Given the description of an element on the screen output the (x, y) to click on. 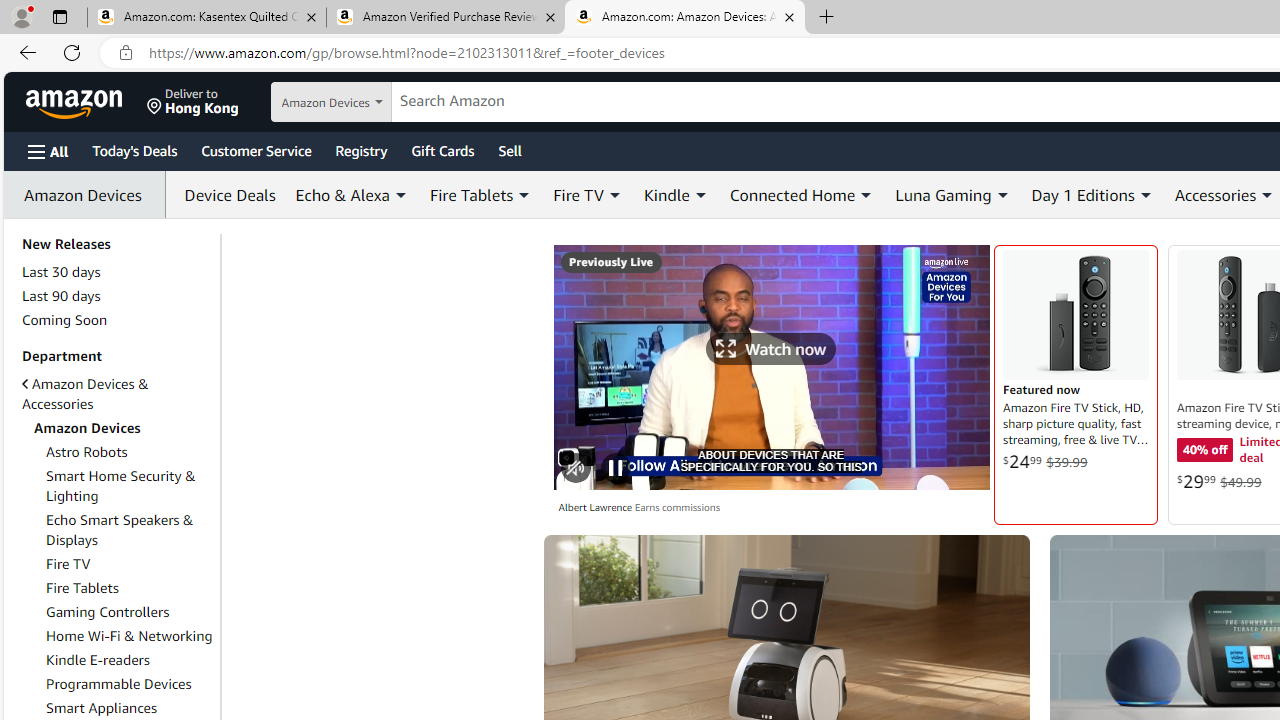
Gaming Controllers (129, 611)
Luna Gaming (952, 194)
Luna Gaming (943, 194)
Coming Soon (117, 319)
Echo & Alexa (352, 194)
Expand Fire Tablets (523, 195)
Today's Deals (134, 150)
Watch now (770, 367)
Unmute (575, 467)
Search in (371, 102)
Amazon Verified Purchase Reviews - Amazon Customer Service (445, 17)
Open Menu (48, 151)
Programmable Devices (129, 683)
